Given the description of an element on the screen output the (x, y) to click on. 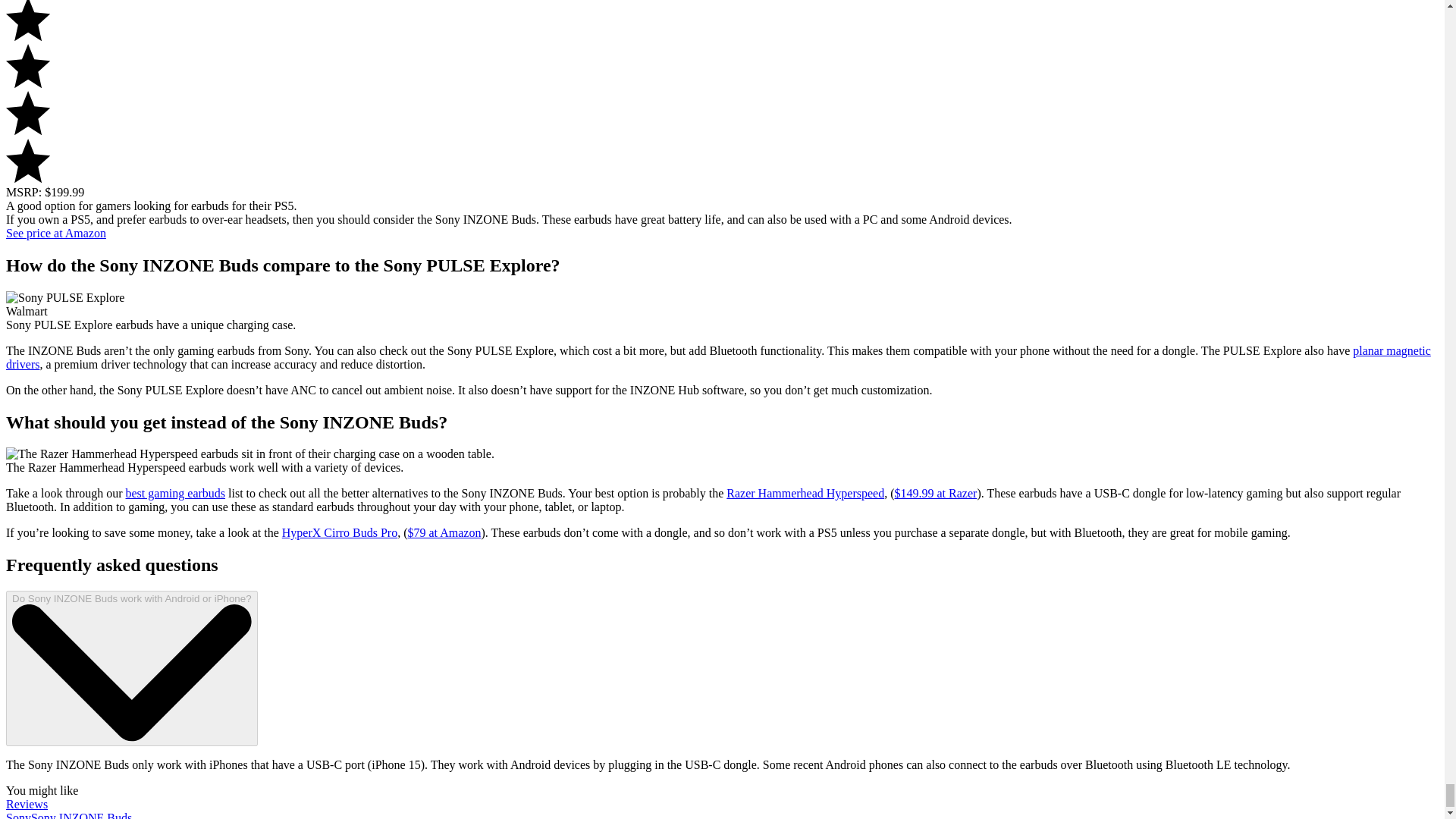
Sony-PULSE-Explore (64, 297)
Razer-Hammerhead-Hyperspeed-feature-shot (250, 454)
